Given the description of an element on the screen output the (x, y) to click on. 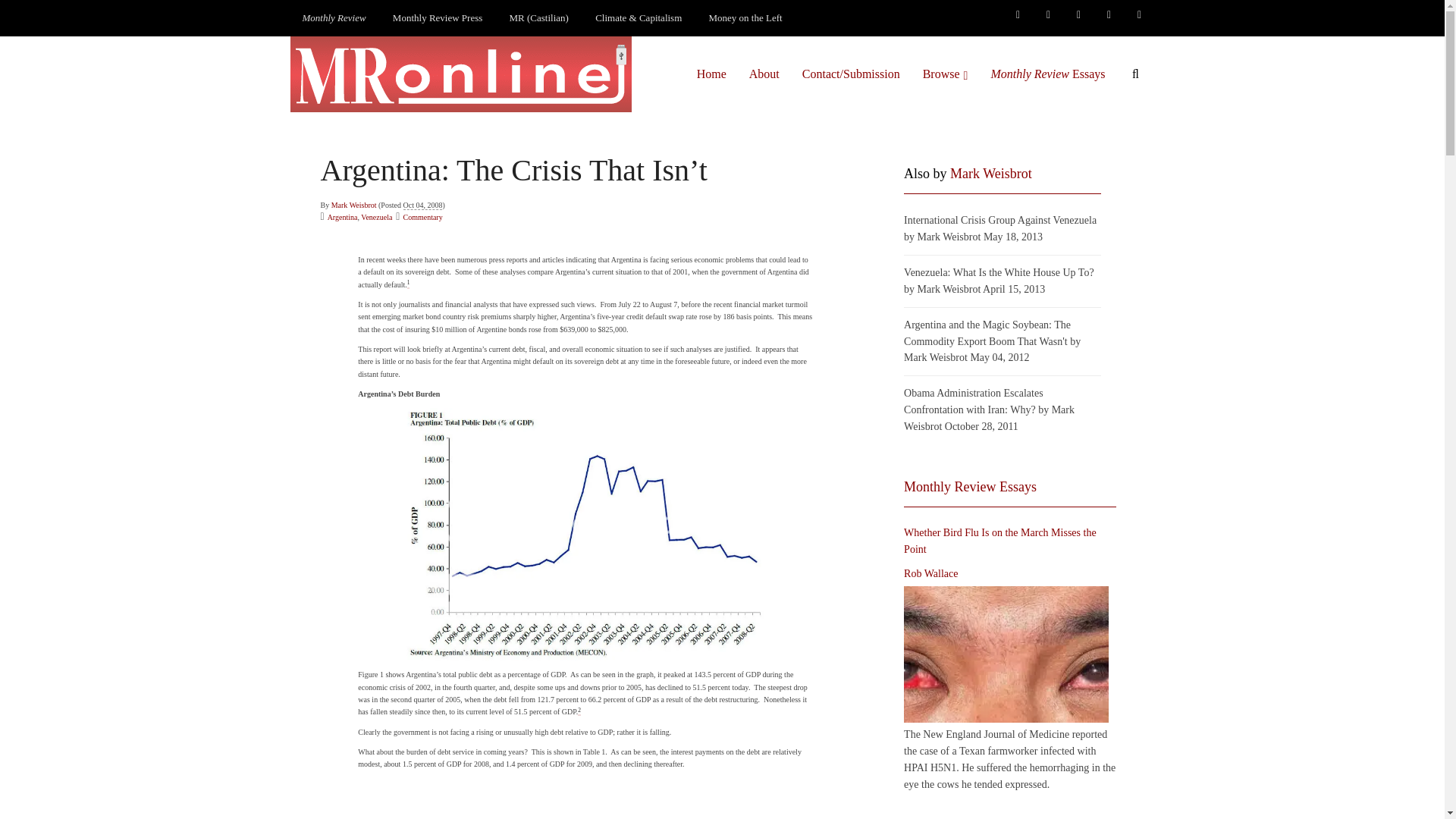
Monthly Review Press (437, 18)
Click on the figure for a larger view. (585, 533)
Monthly Review (333, 18)
Posts by Rob Wallace (931, 573)
Monthly Review Magazine (333, 18)
Money on the Left (745, 18)
Click on the table for a larger view. (585, 798)
Browse (945, 74)
Whether Bird Flu Is on the March Misses the Point (1006, 654)
